Given the description of an element on the screen output the (x, y) to click on. 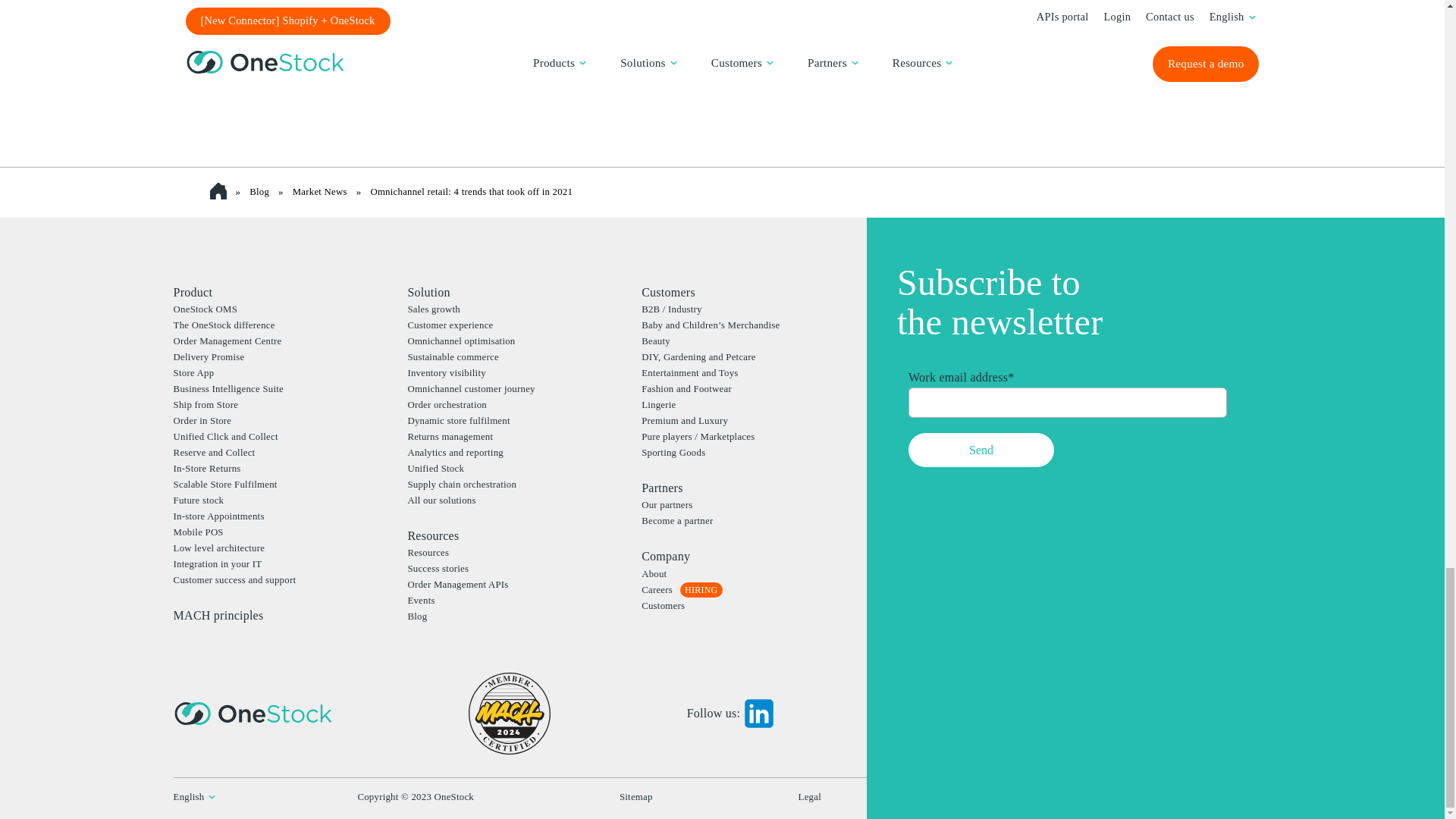
Send (981, 450)
Spotlight on Tryzens Global (290, 37)
Home (220, 191)
Webhook OMS: Definition and Why It Matters (702, 37)
Blog (258, 191)
English (189, 797)
Market News (319, 191)
OneStock (253, 712)
